Given the description of an element on the screen output the (x, y) to click on. 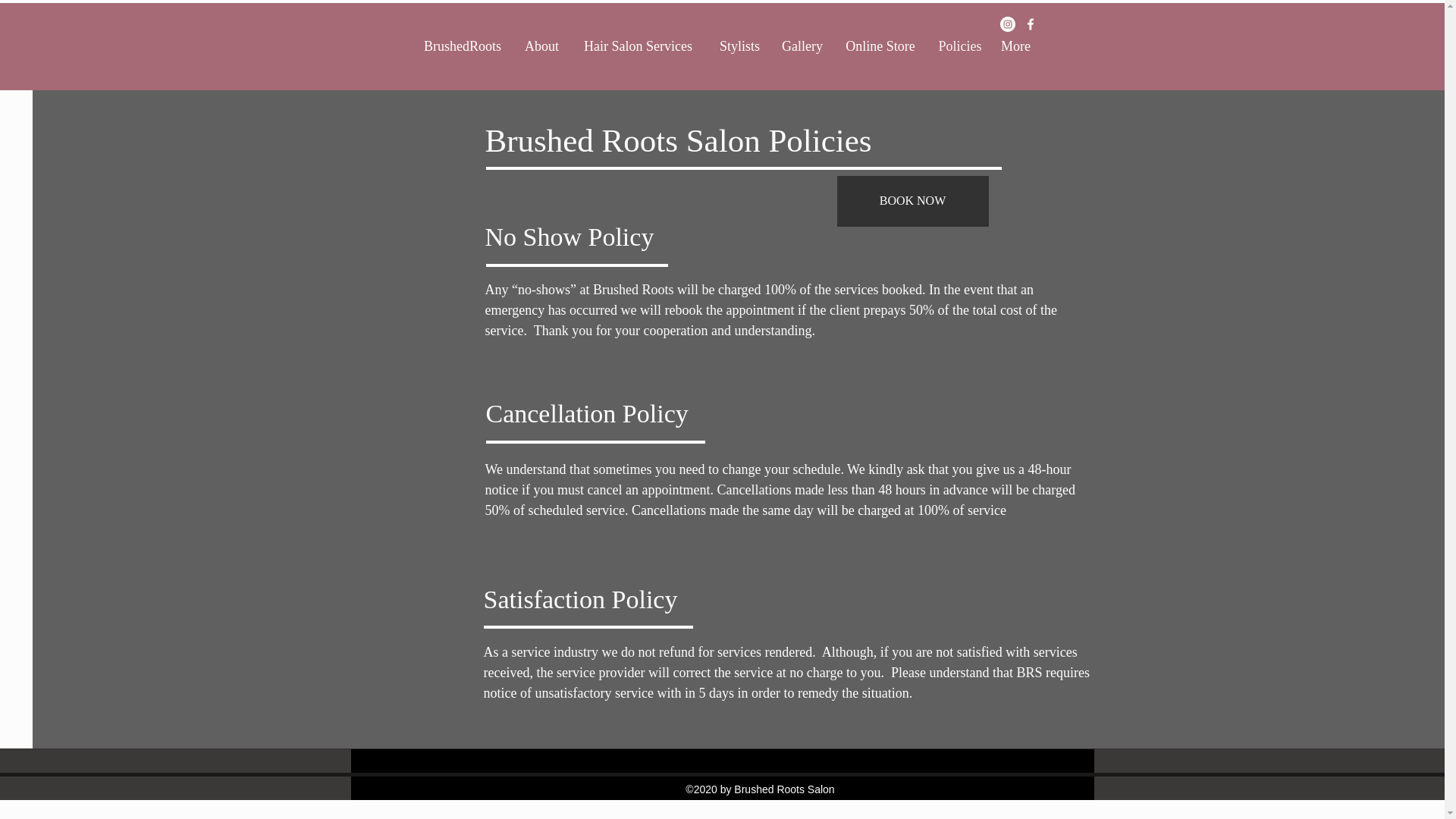
BOOK NOW (912, 201)
Stylists (739, 45)
Online Store (879, 45)
Hair Salon Services (638, 45)
Gallery (801, 45)
About (542, 45)
BrushedRoots (462, 45)
Policies (960, 45)
